Given the description of an element on the screen output the (x, y) to click on. 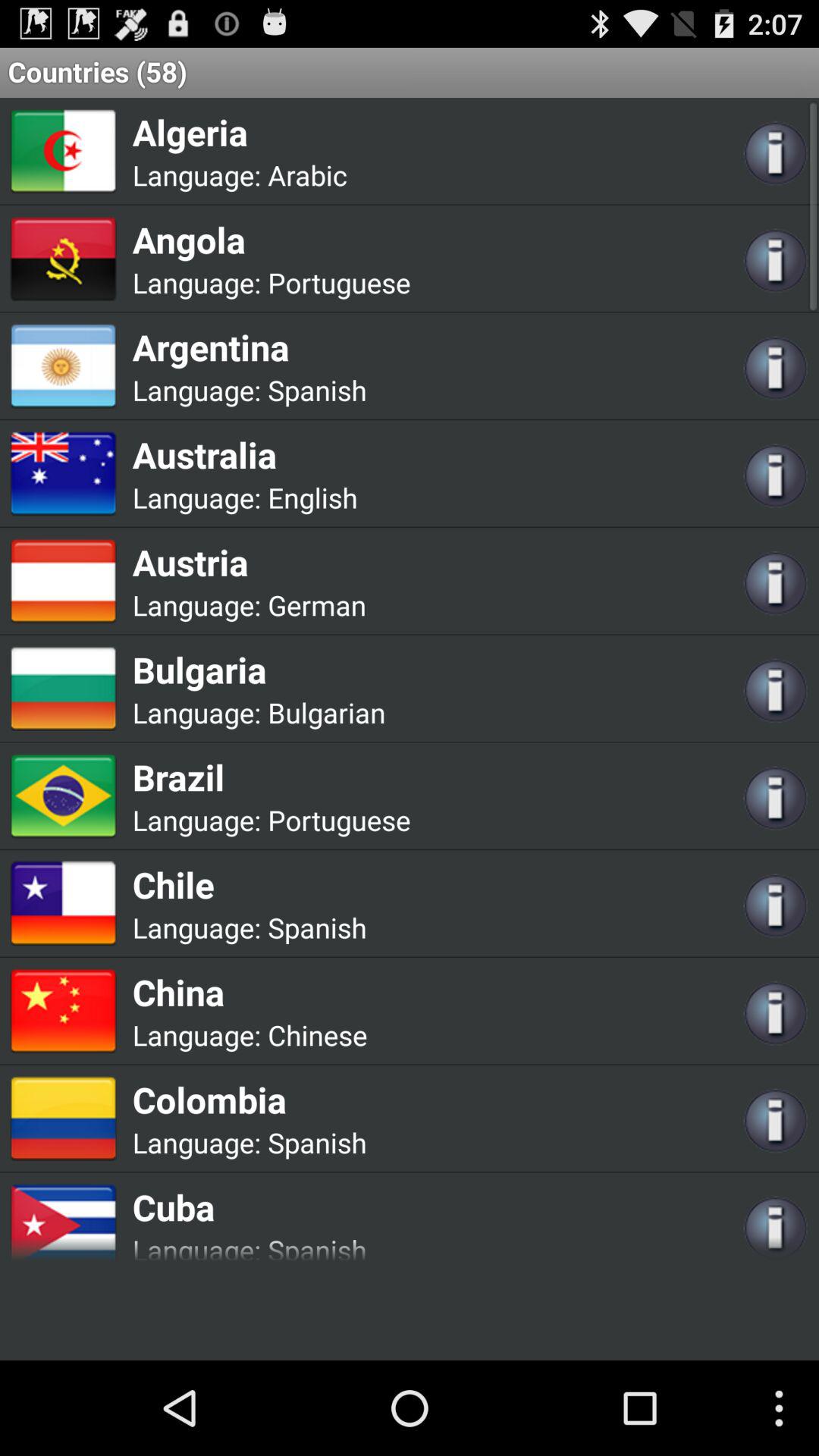
jump until chinese (317, 1034)
